Given the description of an element on the screen output the (x, y) to click on. 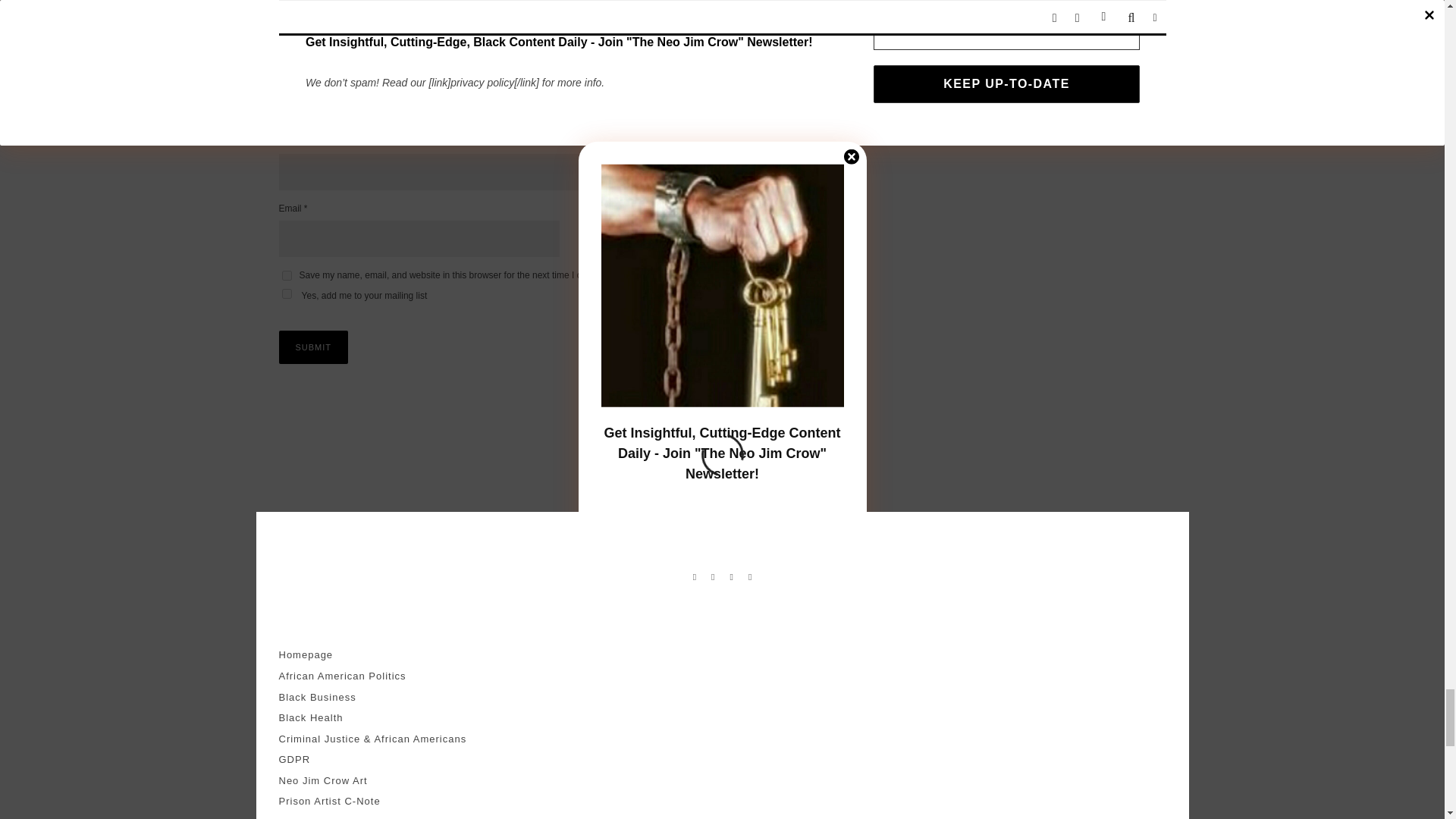
yes (287, 275)
1 (287, 293)
Submit (314, 346)
